Given the description of an element on the screen output the (x, y) to click on. 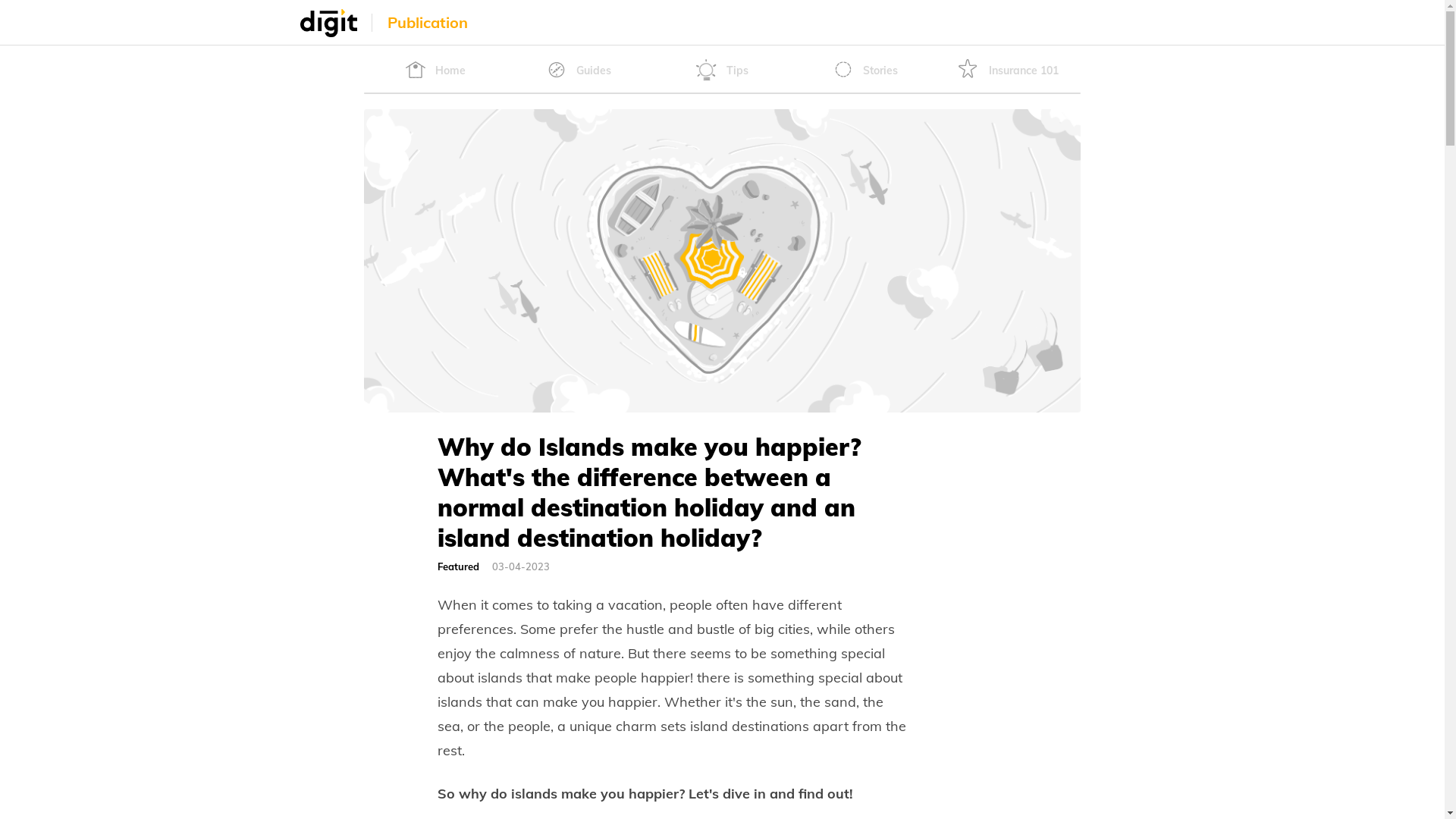
Guides (578, 69)
Stories (865, 69)
Insurance 101 (1008, 69)
Tips (721, 69)
Home (435, 69)
Publication (427, 22)
